Given the description of an element on the screen output the (x, y) to click on. 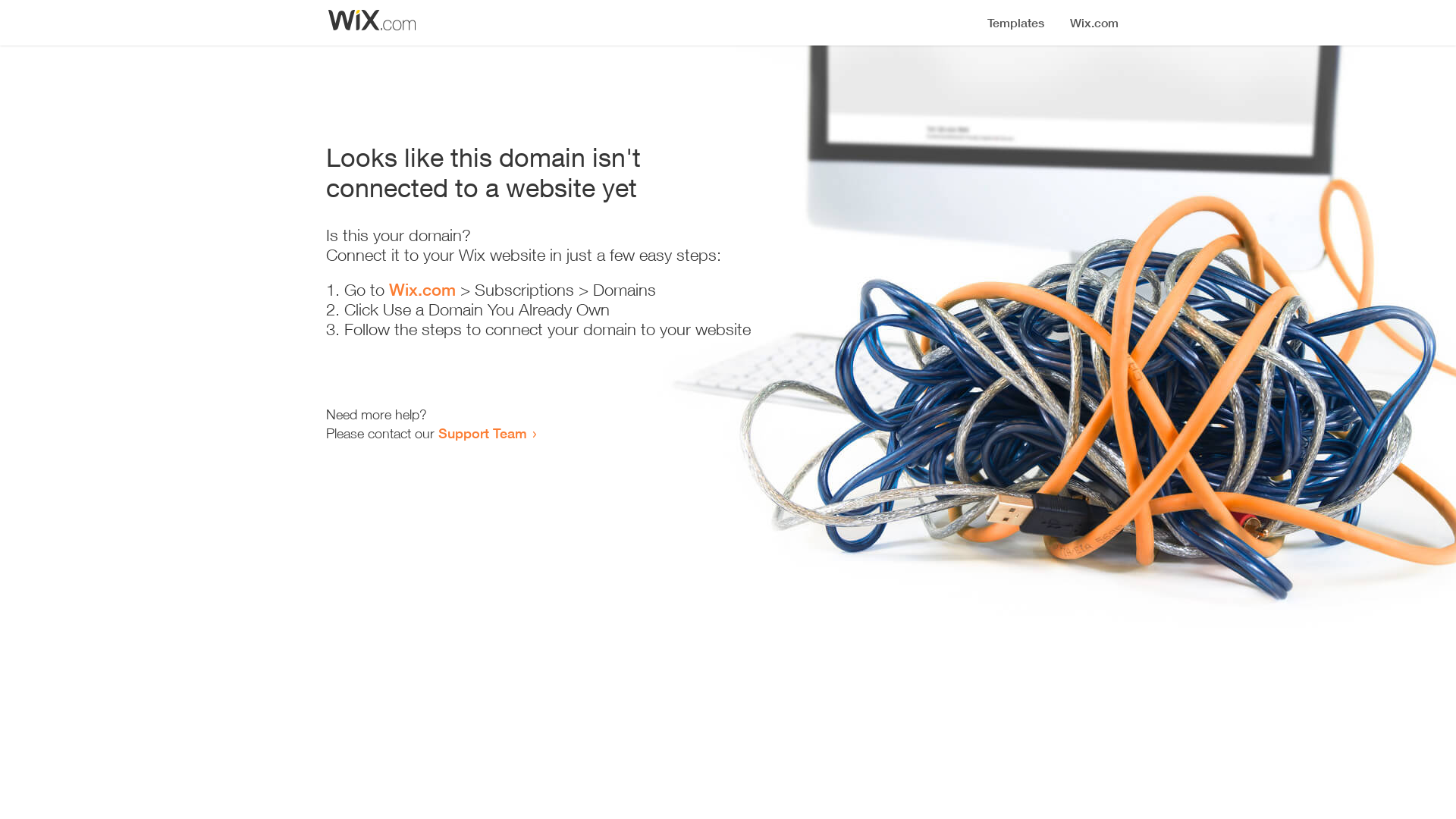
Wix.com Element type: text (422, 289)
Support Team Element type: text (482, 432)
